Given the description of an element on the screen output the (x, y) to click on. 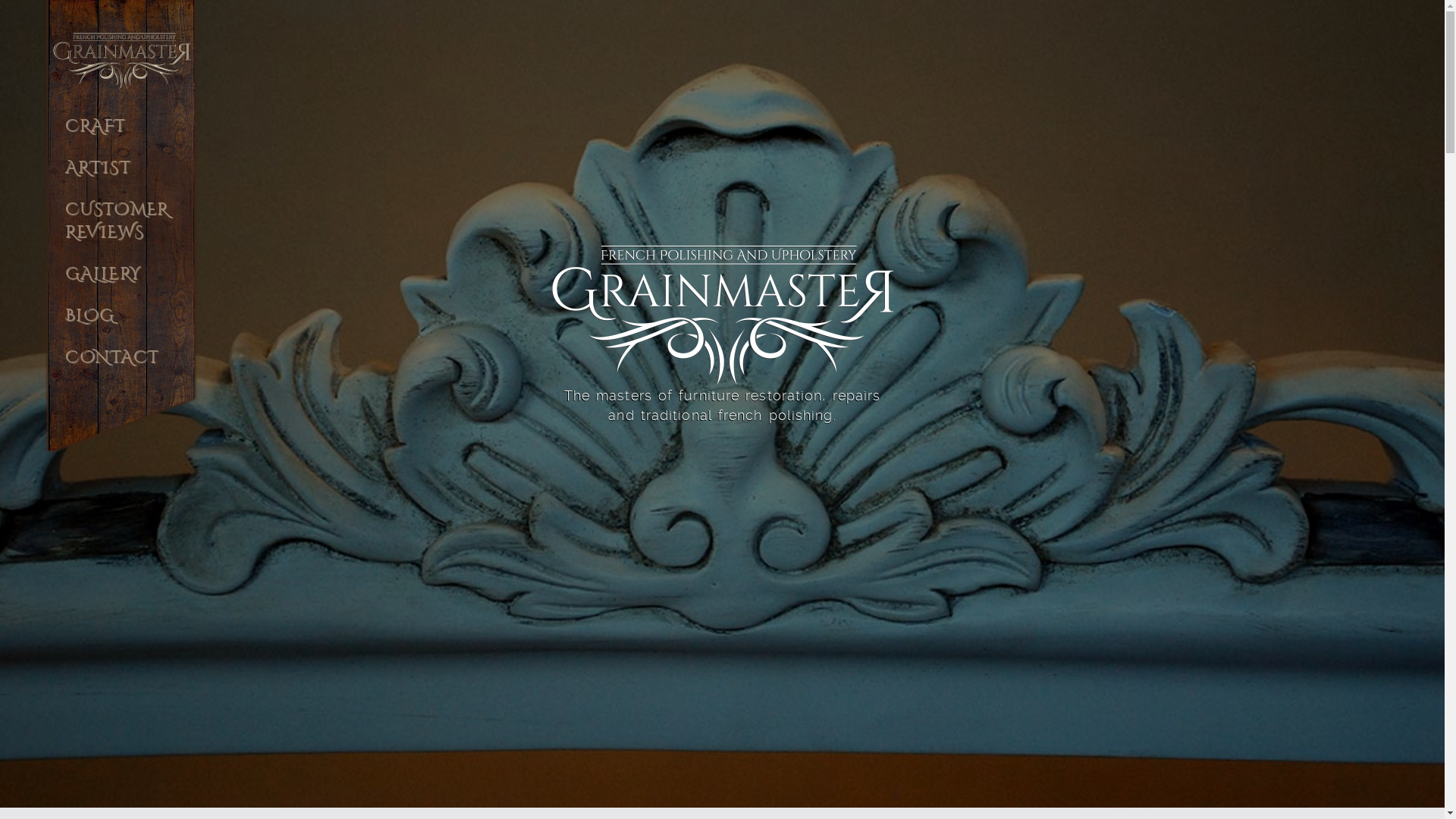
BLOG Element type: text (121, 324)
GALLERY Element type: text (121, 283)
CUSTOMER REVIEWS Element type: text (121, 229)
CONTACT Element type: text (121, 366)
CRAFT Element type: text (121, 135)
ARTIST Element type: text (121, 176)
